Given the description of an element on the screen output the (x, y) to click on. 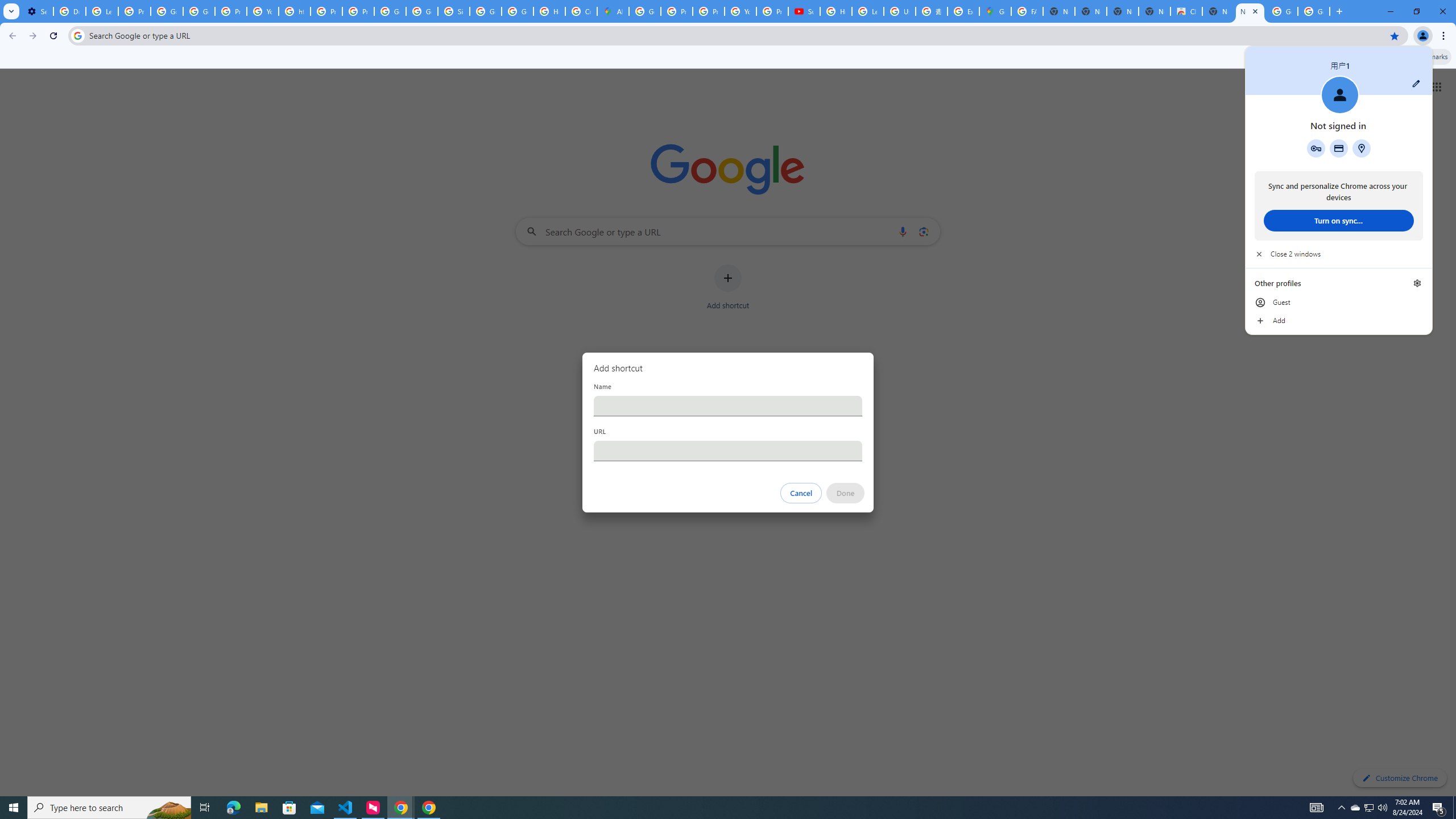
Search highlights icon opens search home window (167, 807)
Payment methods (1338, 148)
How Chrome protects your passwords - Google Chrome Help (836, 11)
New Tab (1249, 11)
Type here to search (108, 807)
Notification Chevron (1341, 807)
